Given the description of an element on the screen output the (x, y) to click on. 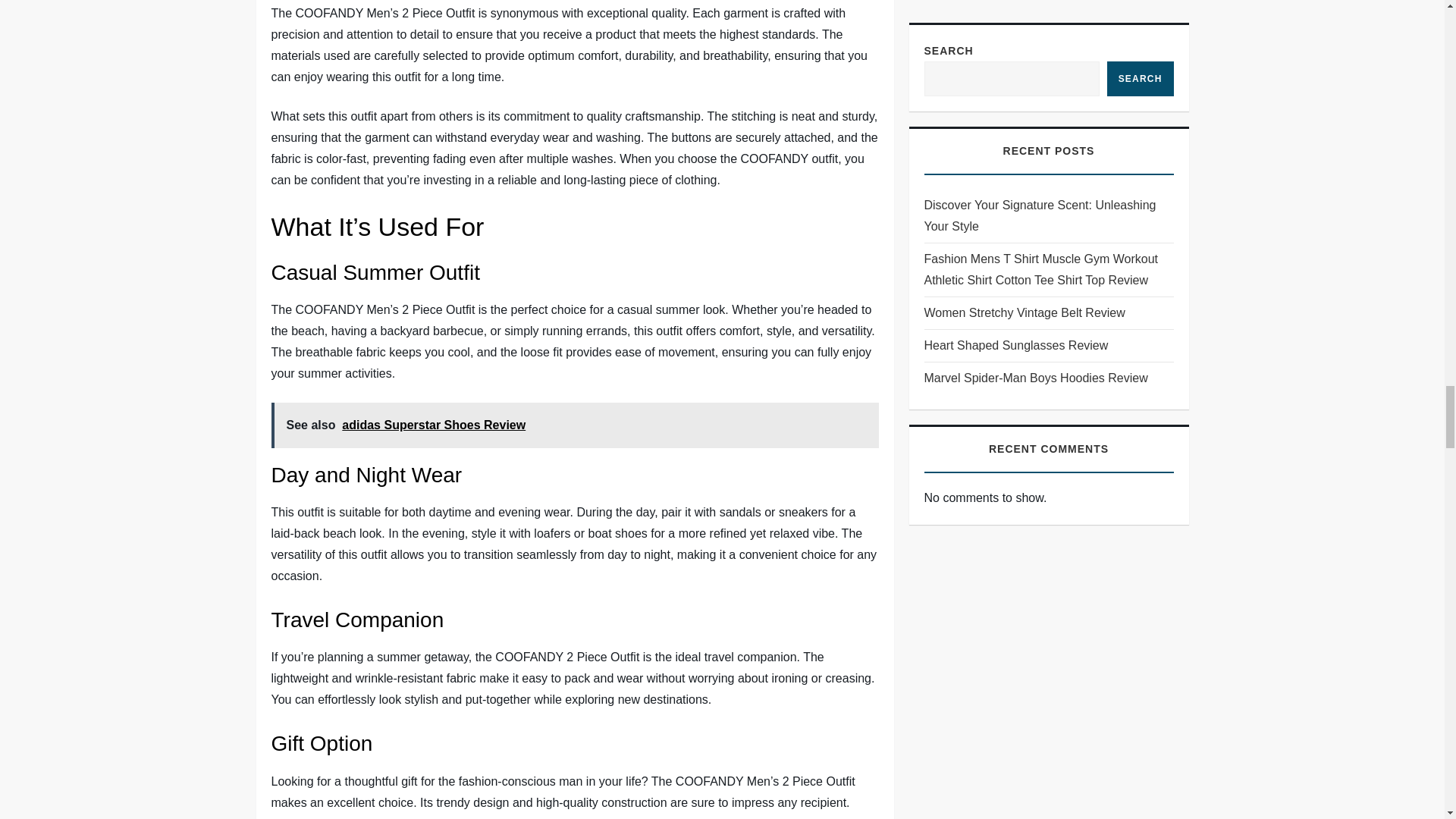
See also  adidas Superstar Shoes Review (574, 424)
